Given the description of an element on the screen output the (x, y) to click on. 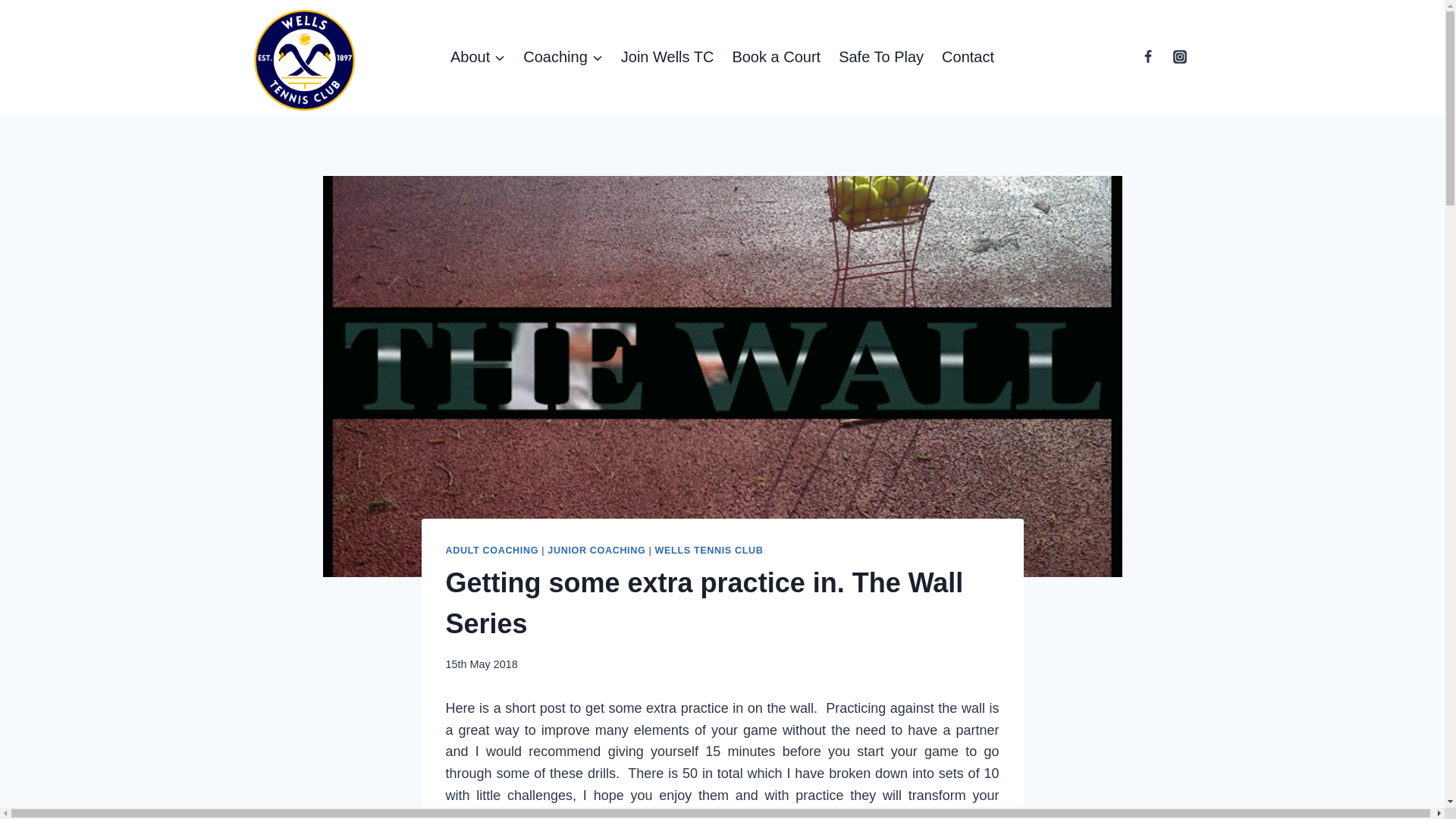
Safe To Play (881, 56)
Join Wells TC (667, 56)
ADULT COACHING (491, 550)
WELLS TENNIS CLUB (708, 550)
Contact (968, 56)
About (477, 56)
Book a Court (775, 56)
JUNIOR COACHING (596, 550)
Coaching (562, 56)
